Given the description of an element on the screen output the (x, y) to click on. 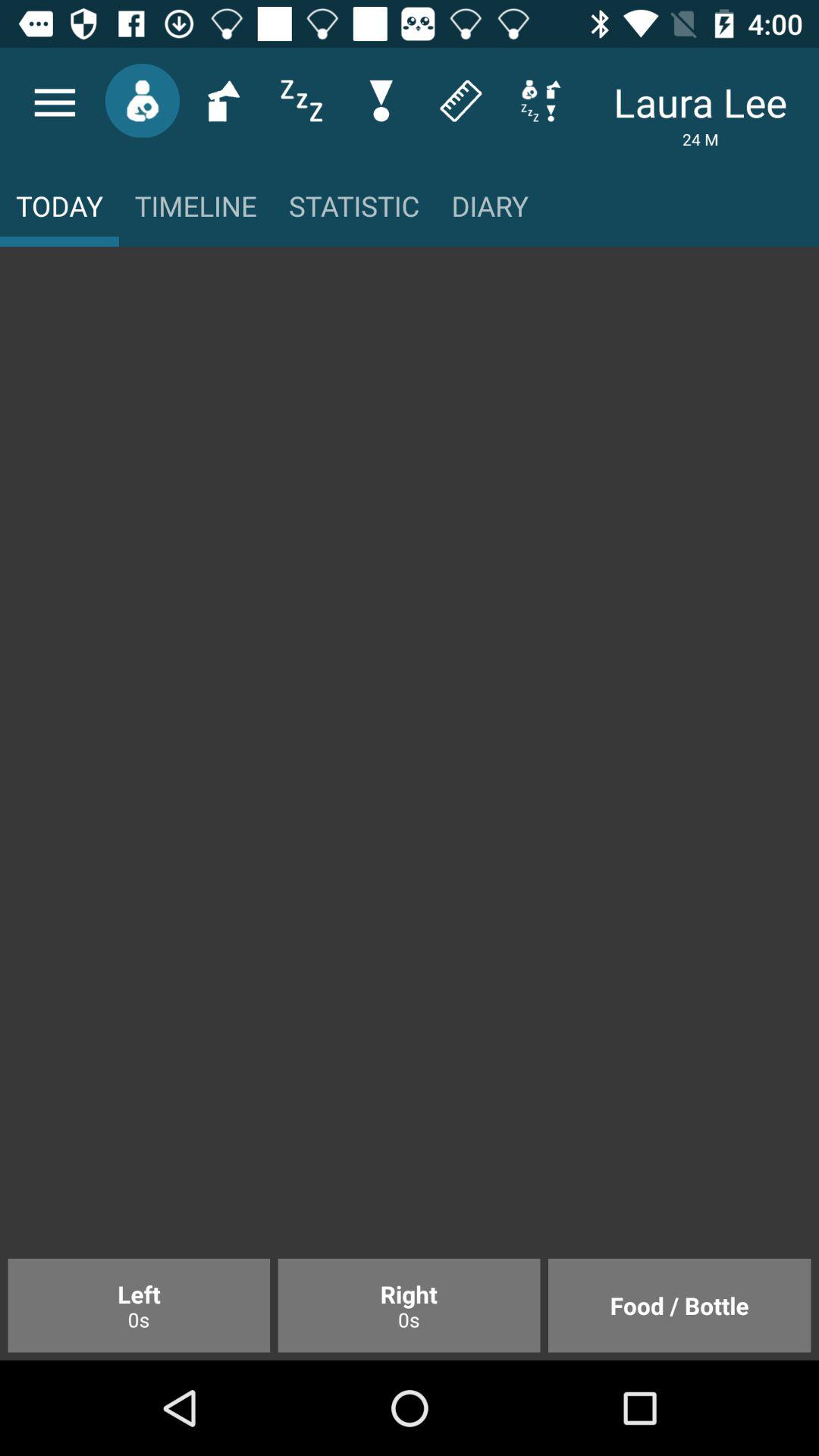
turn on left
0s icon (138, 1305)
